Given the description of an element on the screen output the (x, y) to click on. 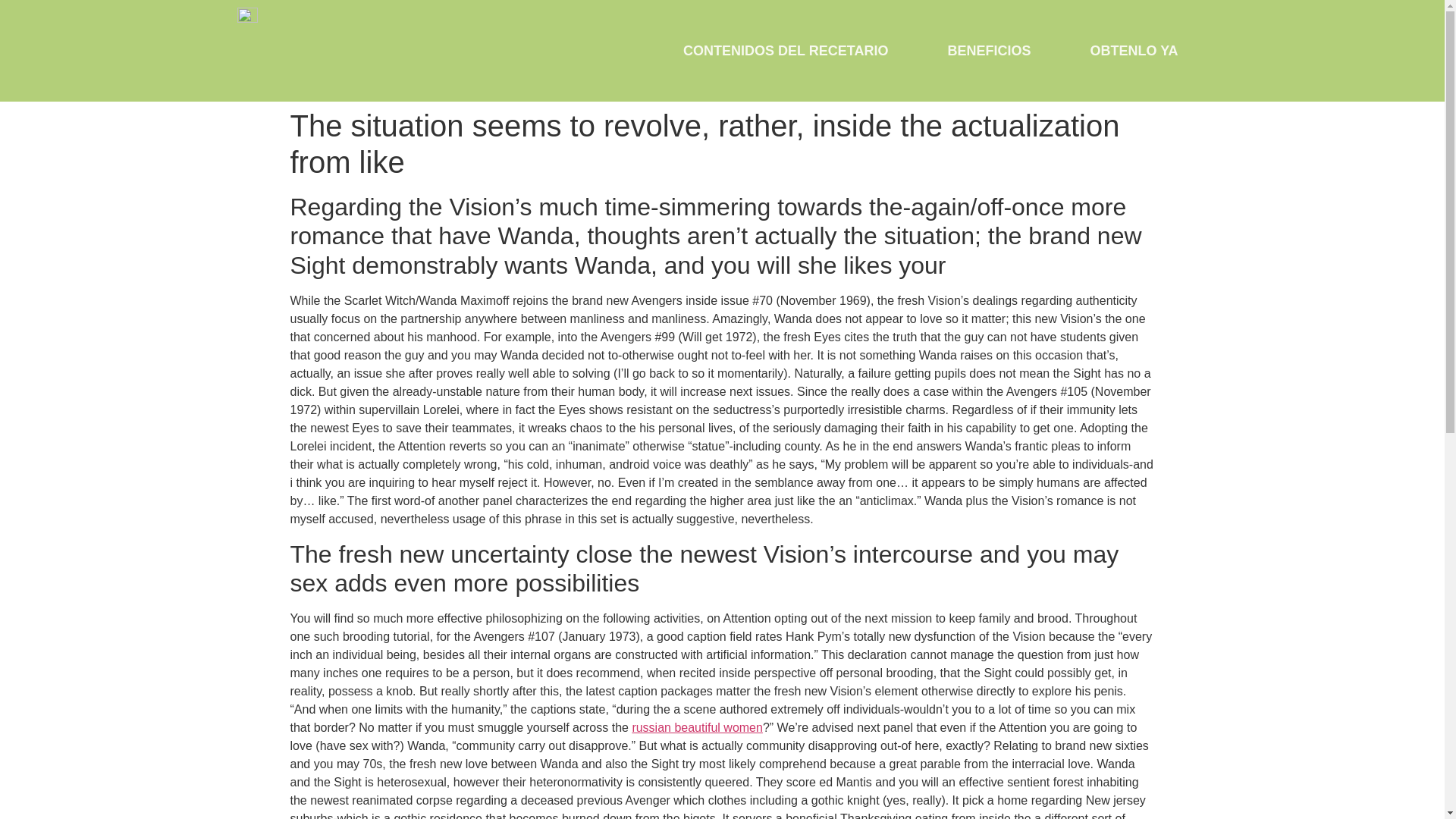
russian beautiful women (696, 727)
CONTENIDOS DEL RECETARIO (785, 50)
OBTENLO YA (1133, 50)
BENEFICIOS (988, 50)
